Given the description of an element on the screen output the (x, y) to click on. 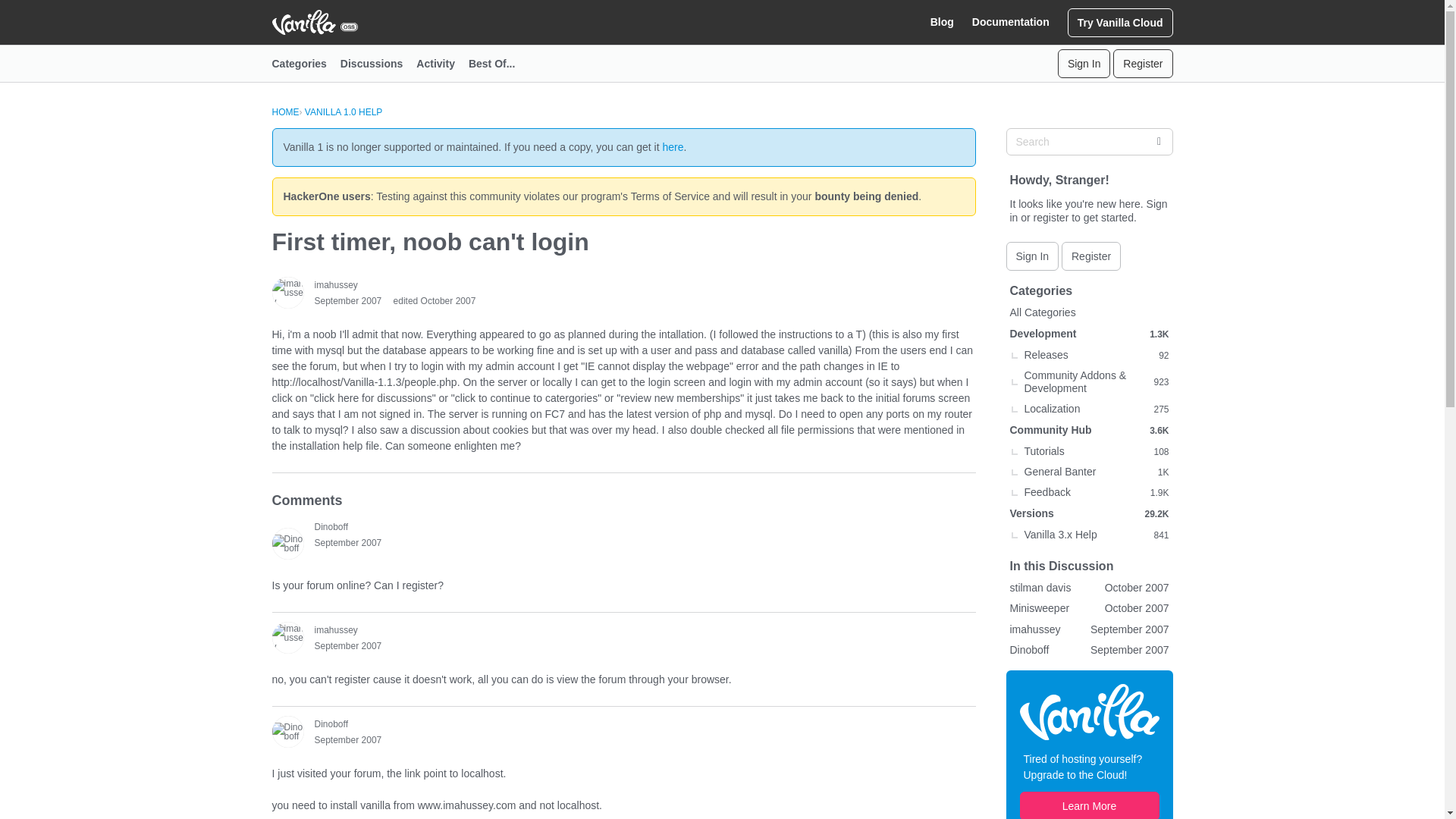
September 2007 (347, 542)
Go (1158, 141)
Blog (942, 22)
imahussey (286, 637)
Sign In (1084, 63)
imahussey (335, 284)
Dinoboff (286, 731)
Categories (304, 63)
HOME (284, 112)
Vanilla (1088, 711)
